Given the description of an element on the screen output the (x, y) to click on. 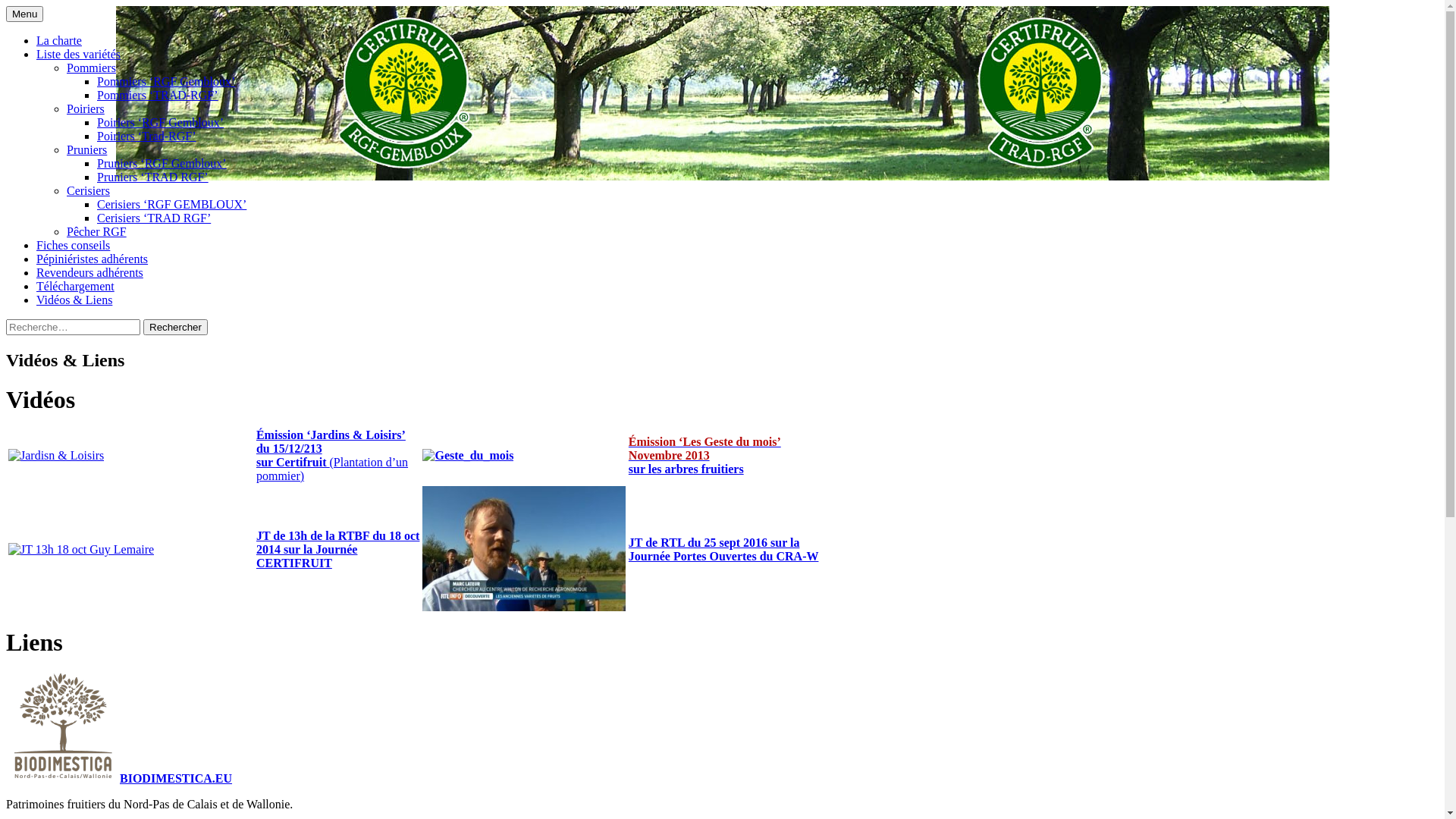
Biodimestica Element type: hover (62, 777)
BIODIMESTICA.EU Element type: text (175, 777)
sur Certifruit Element type: text (292, 461)
Rechercher Element type: text (175, 327)
La charte Element type: text (58, 40)
Poiriers Element type: text (85, 108)
Menu Element type: text (24, 13)
Pommiers Element type: text (91, 67)
Fiches conseils Element type: text (72, 244)
Cerisiers Element type: text (87, 190)
sur les arbres fruitiers Element type: text (685, 468)
Pruniers Element type: text (86, 149)
Aller au contenu Element type: text (42, 5)
